Given the description of an element on the screen output the (x, y) to click on. 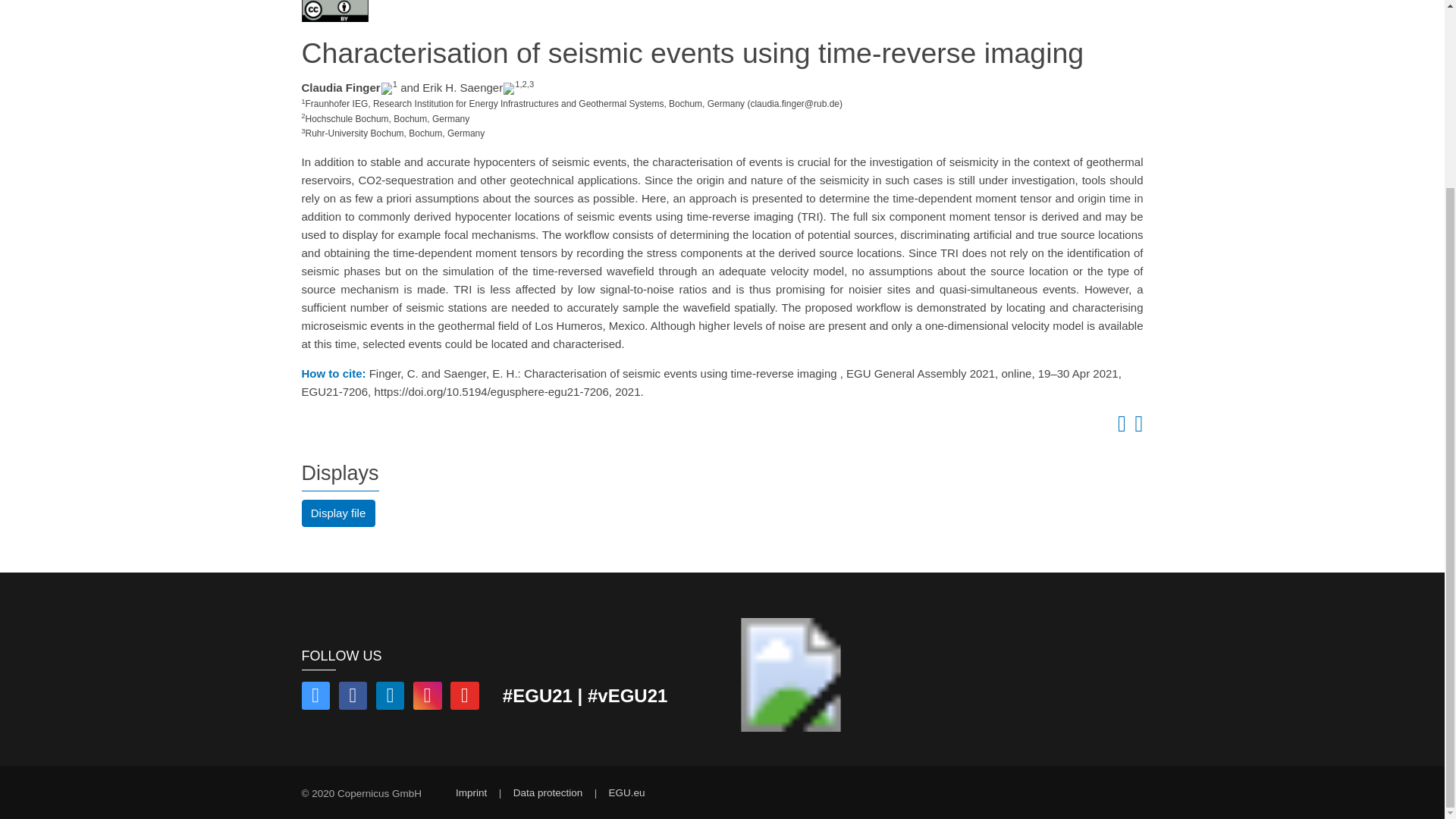
Find us on YouTube (464, 697)
Display file (338, 513)
Find us on Instagram (427, 697)
Find us on LinkedIn (389, 697)
Follow us on Facebook (353, 697)
Follow us on Twitter (315, 697)
Copy to clipboard (1118, 427)
Open QR code linking to abstract URL (1135, 427)
